Given the description of an element on the screen output the (x, y) to click on. 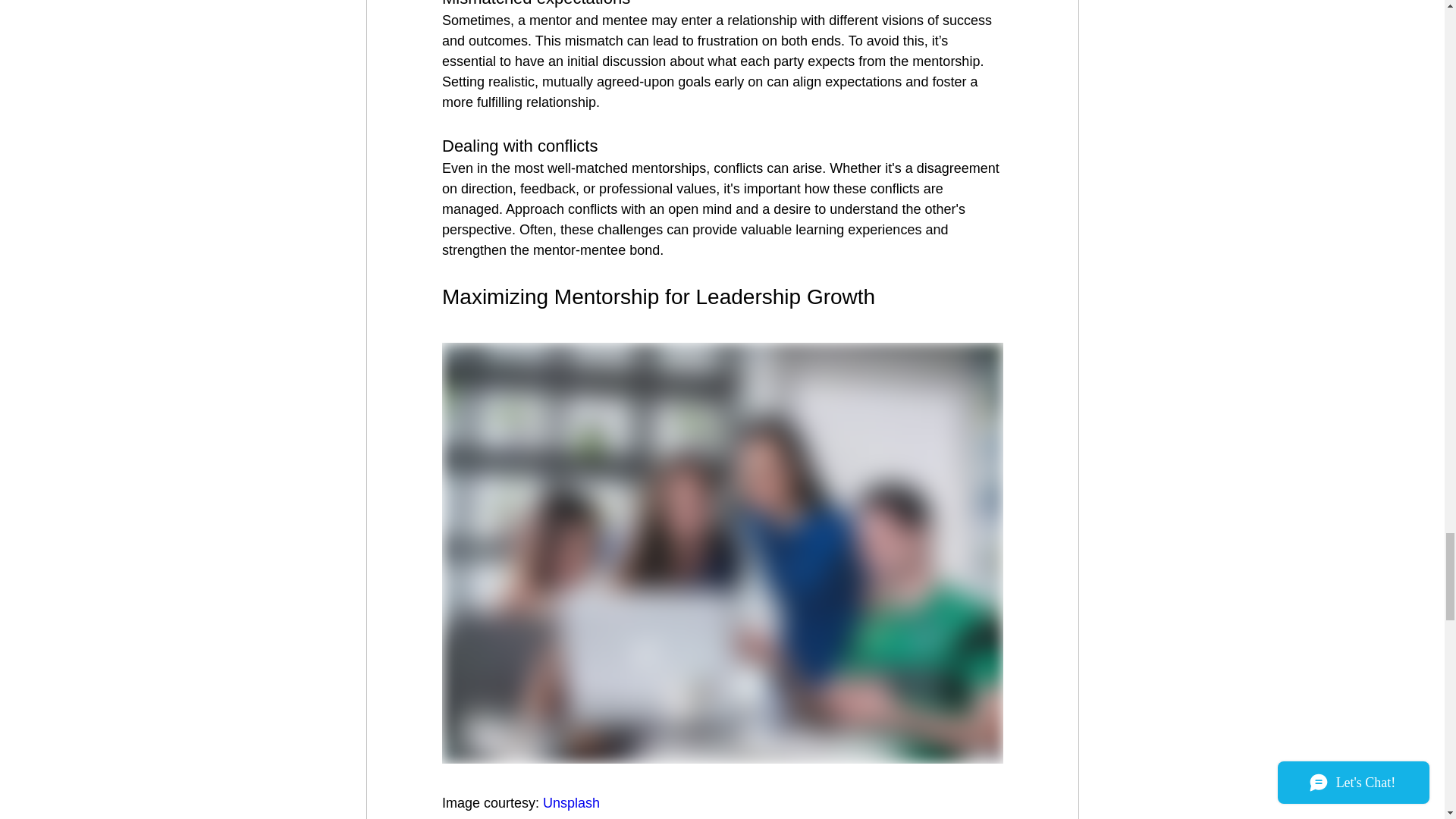
Unsplash (571, 802)
